Given the description of an element on the screen output the (x, y) to click on. 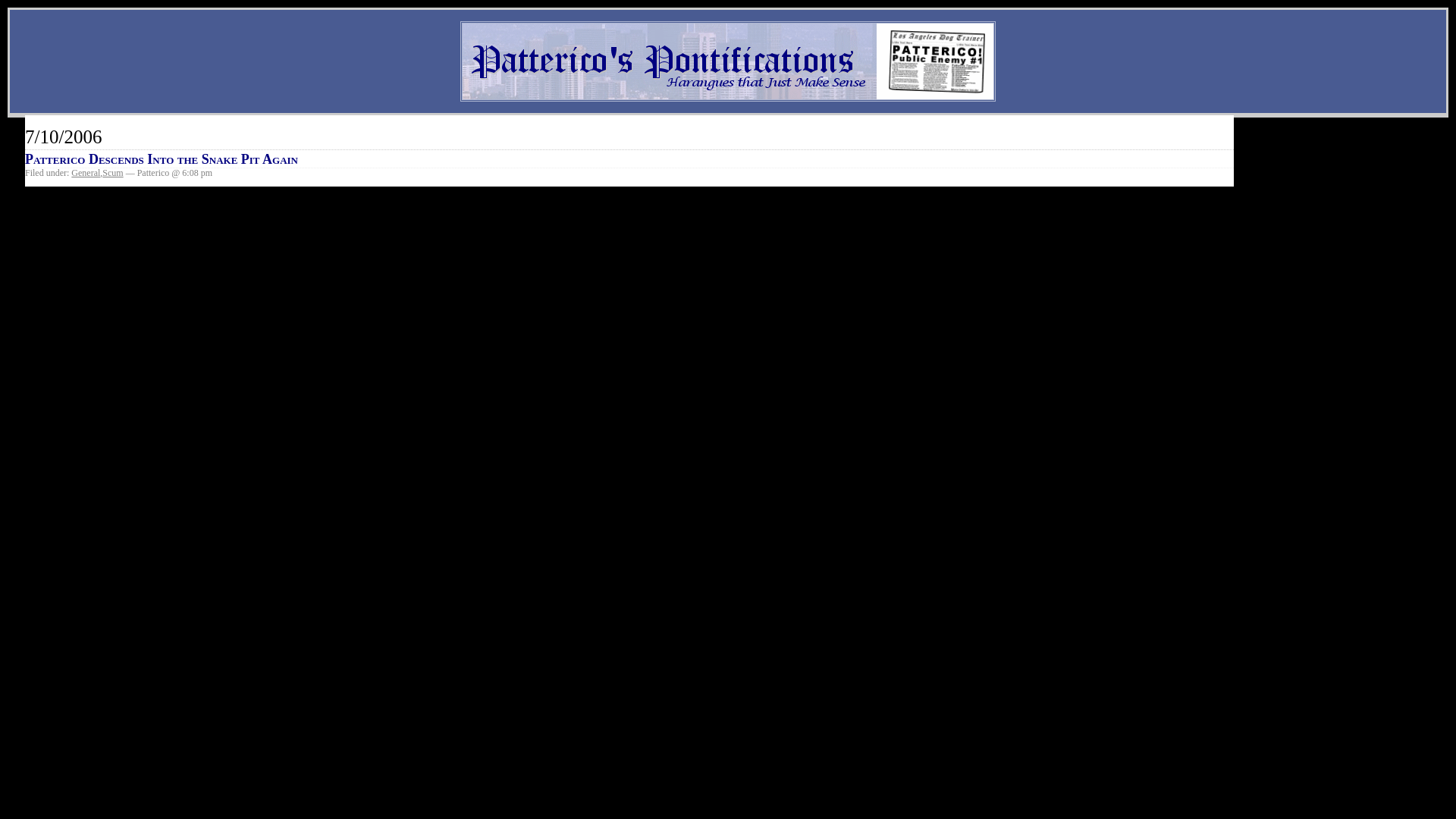
Scum (111, 172)
Patterico Descends Into the Snake Pit Again (161, 159)
Patterico Descends Into the Snake Pit Again (161, 159)
General (85, 172)
